Given the description of an element on the screen output the (x, y) to click on. 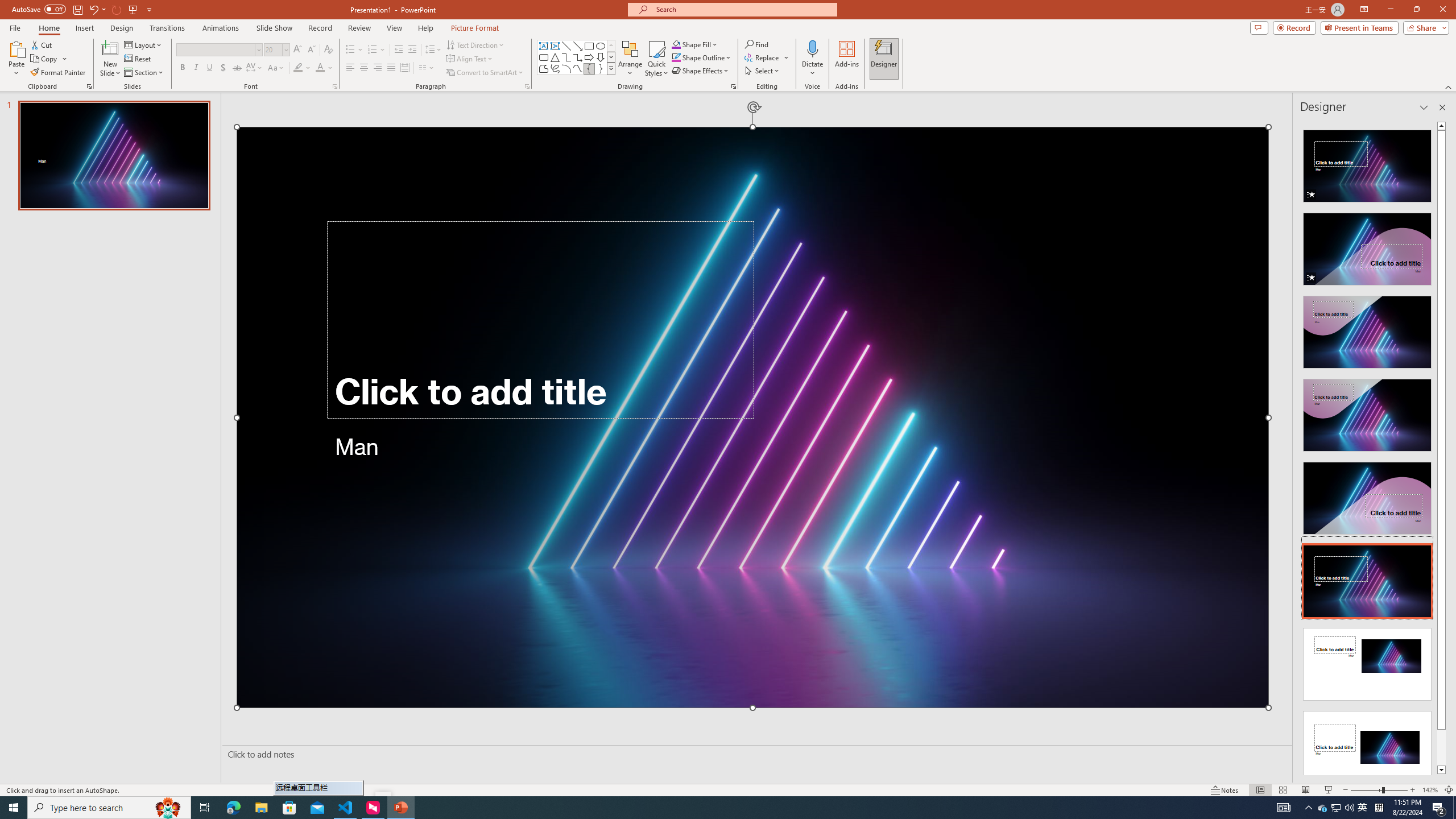
Recommended Design: Animation (1366, 162)
